Given the description of an element on the screen output the (x, y) to click on. 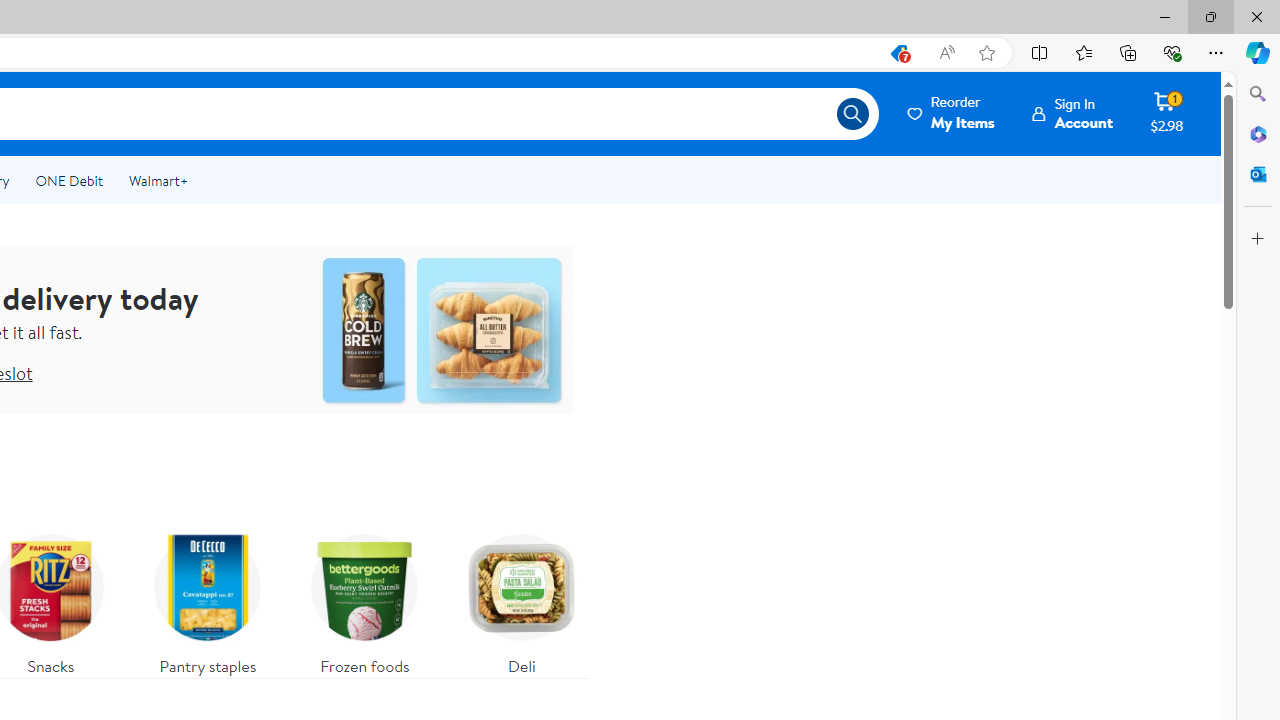
Walmart+ (158, 180)
ONE Debit (68, 180)
ReorderMy Items (952, 113)
Pantry staples (207, 599)
Search icon (852, 113)
